Given the description of an element on the screen output the (x, y) to click on. 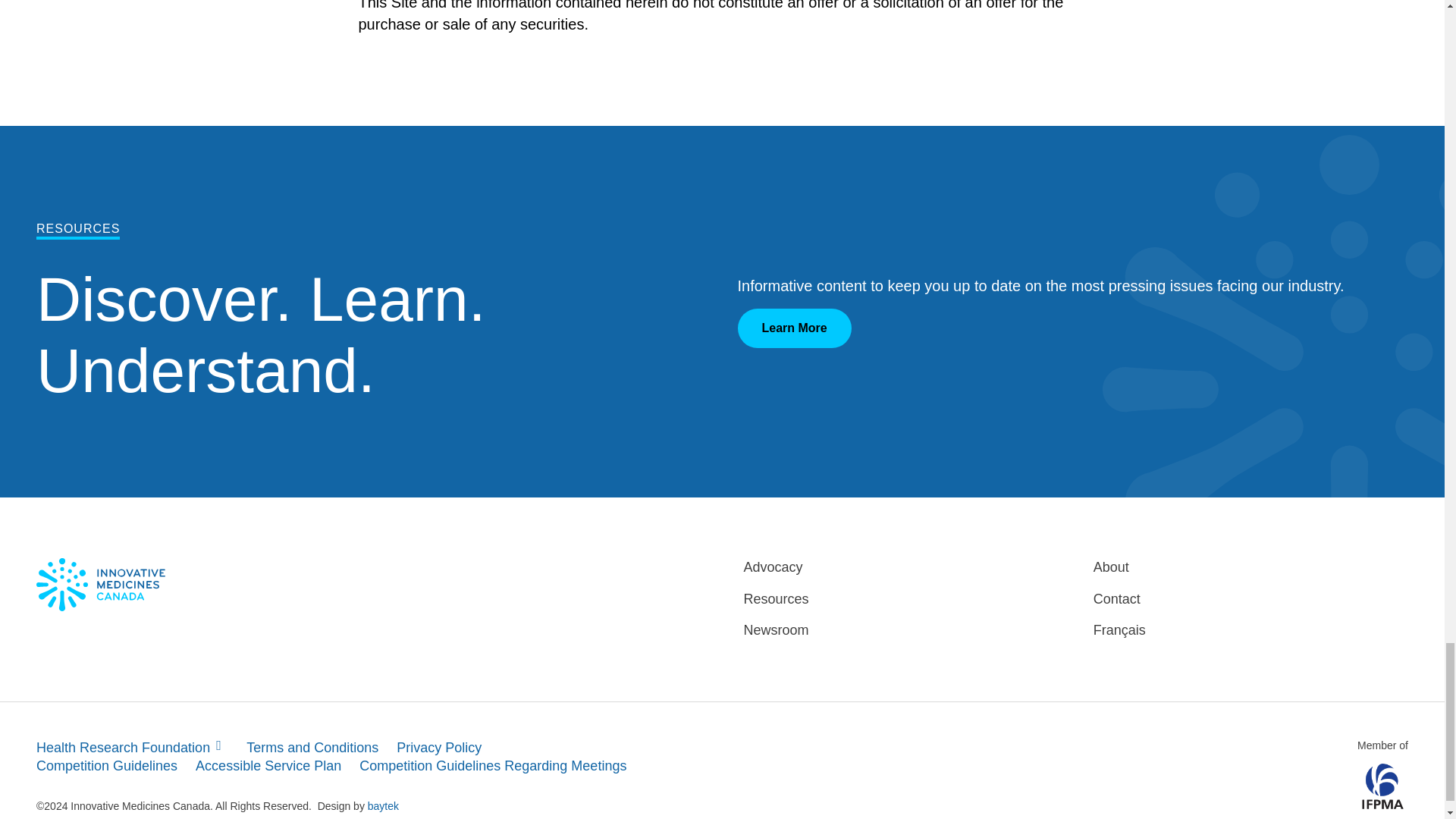
Ottawa Web Design and Branding (383, 806)
